Given the description of an element on the screen output the (x, y) to click on. 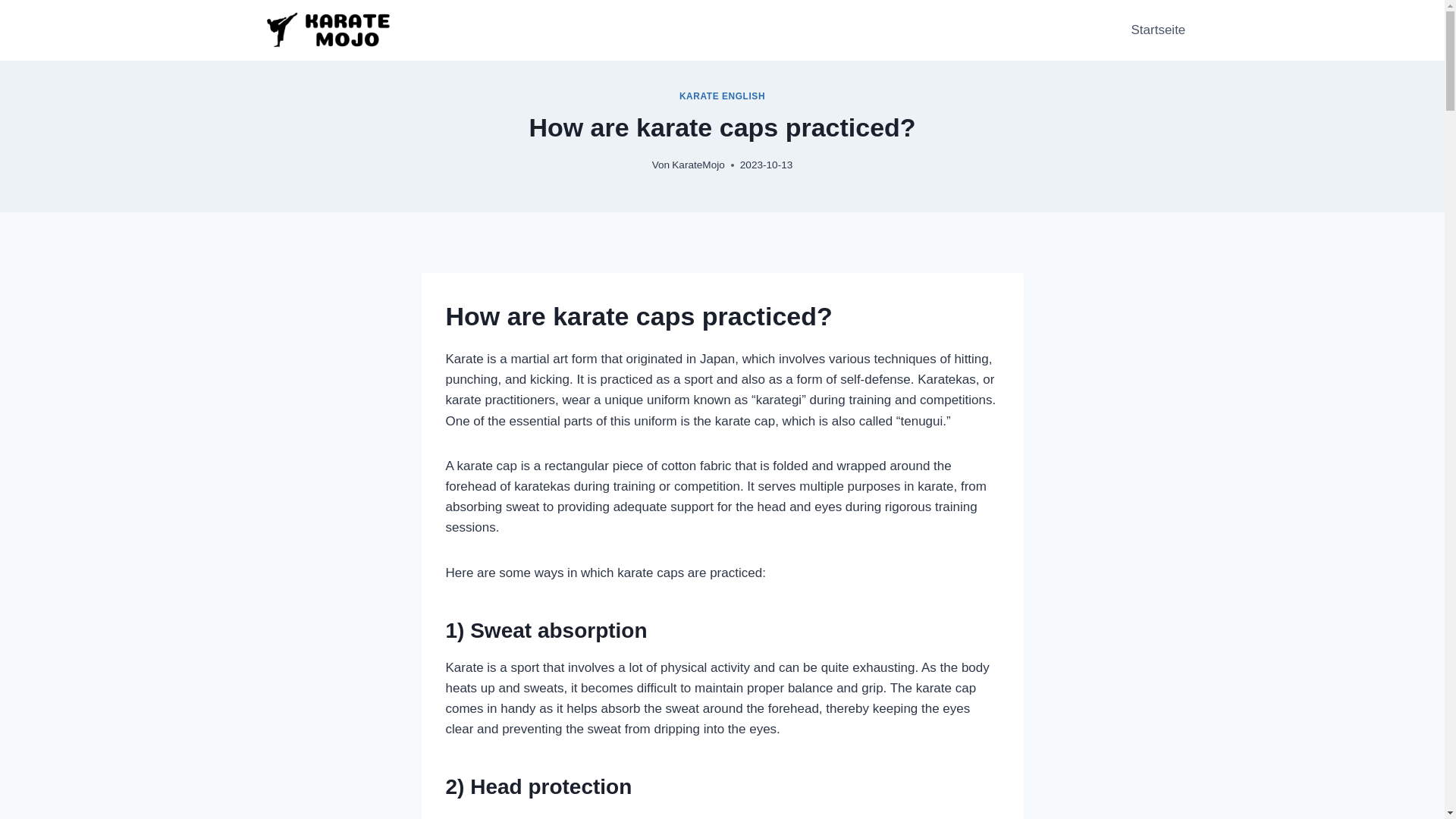
KarateMojo (698, 164)
KARATE ENGLISH (722, 95)
Startseite (1157, 30)
